Given the description of an element on the screen output the (x, y) to click on. 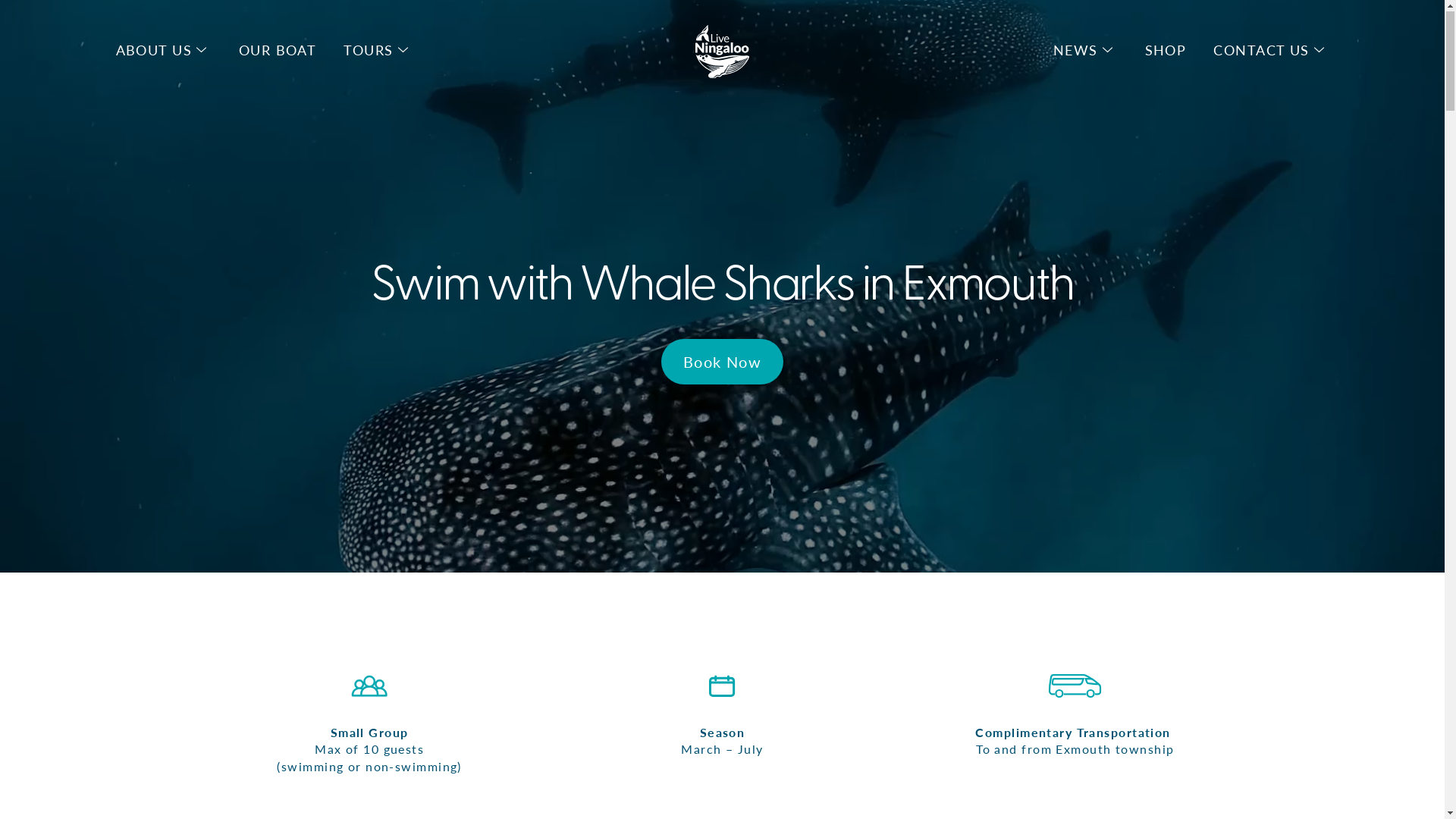
Swim with Whale Sharks in Exmouth 1 Element type: hover (369, 686)
Book Now Element type: text (722, 361)
SHOP Element type: text (1165, 49)
TOURS Element type: text (367, 49)
Show sub menu Element type: text (1318, 50)
Show sub menu Element type: text (402, 50)
CONTACT US Element type: text (1260, 49)
Show sub menu Element type: text (1107, 50)
Swim with Whale Sharks in Exmouth 2 Element type: hover (721, 686)
OUR BOAT Element type: text (277, 49)
Swim with Whale Sharks in Exmouth 3 Element type: hover (1075, 686)
ABOUT US Element type: text (153, 49)
NEWS Element type: text (1075, 49)
Show sub menu Element type: text (201, 50)
